Given the description of an element on the screen output the (x, y) to click on. 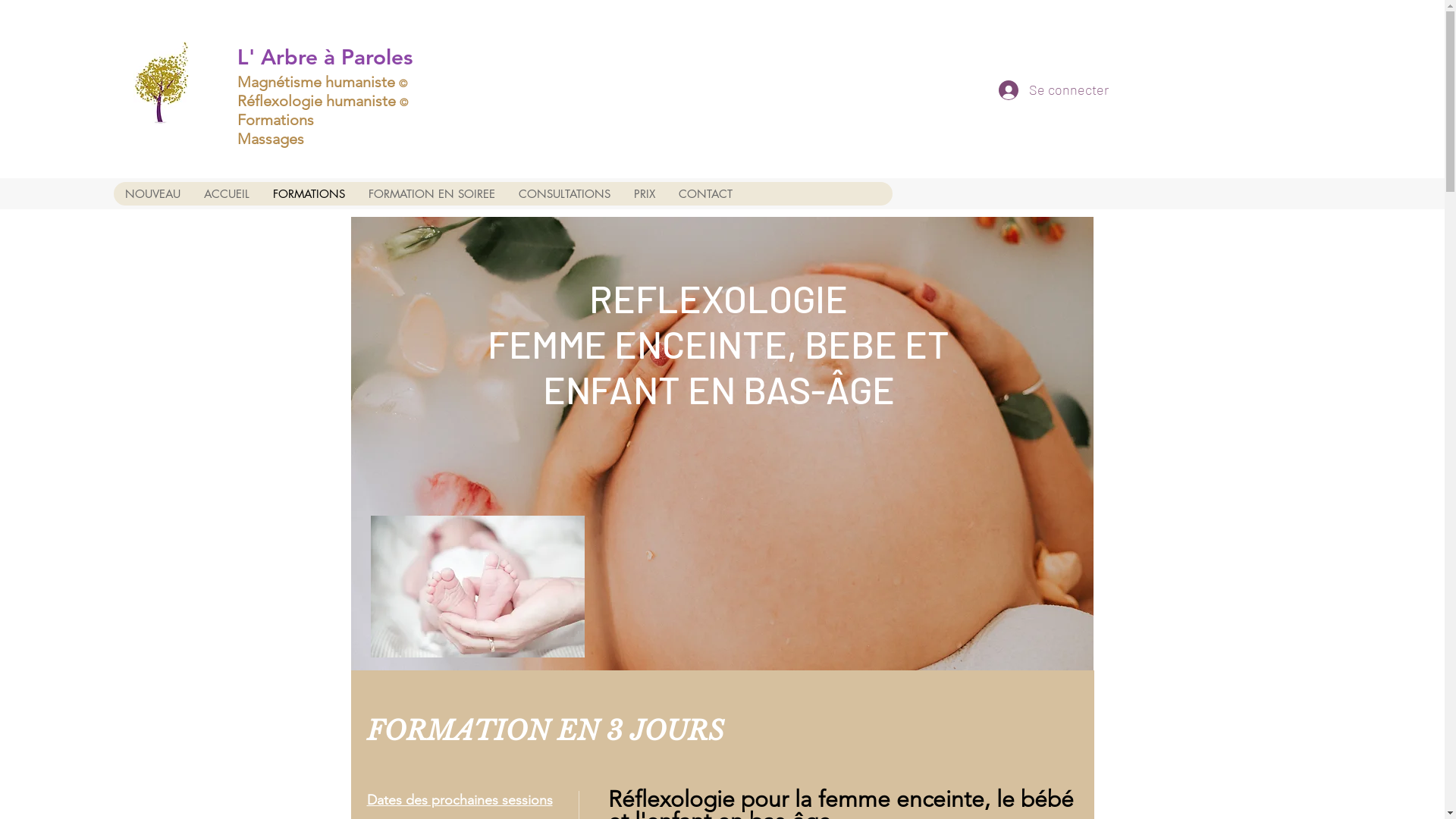
reflex_baby.jpg Element type: hover (476, 586)
PRIX Element type: text (643, 193)
CONSULTATIONS Element type: text (563, 193)
CONTACT Element type: text (704, 193)
FORMATIONS Element type: text (308, 193)
Se connecter Element type: text (1032, 89)
FORMATION EN SOIREE Element type: text (431, 193)
ACCUEIL Element type: text (225, 193)
NOUVEAU Element type: text (152, 193)
